Given the description of an element on the screen output the (x, y) to click on. 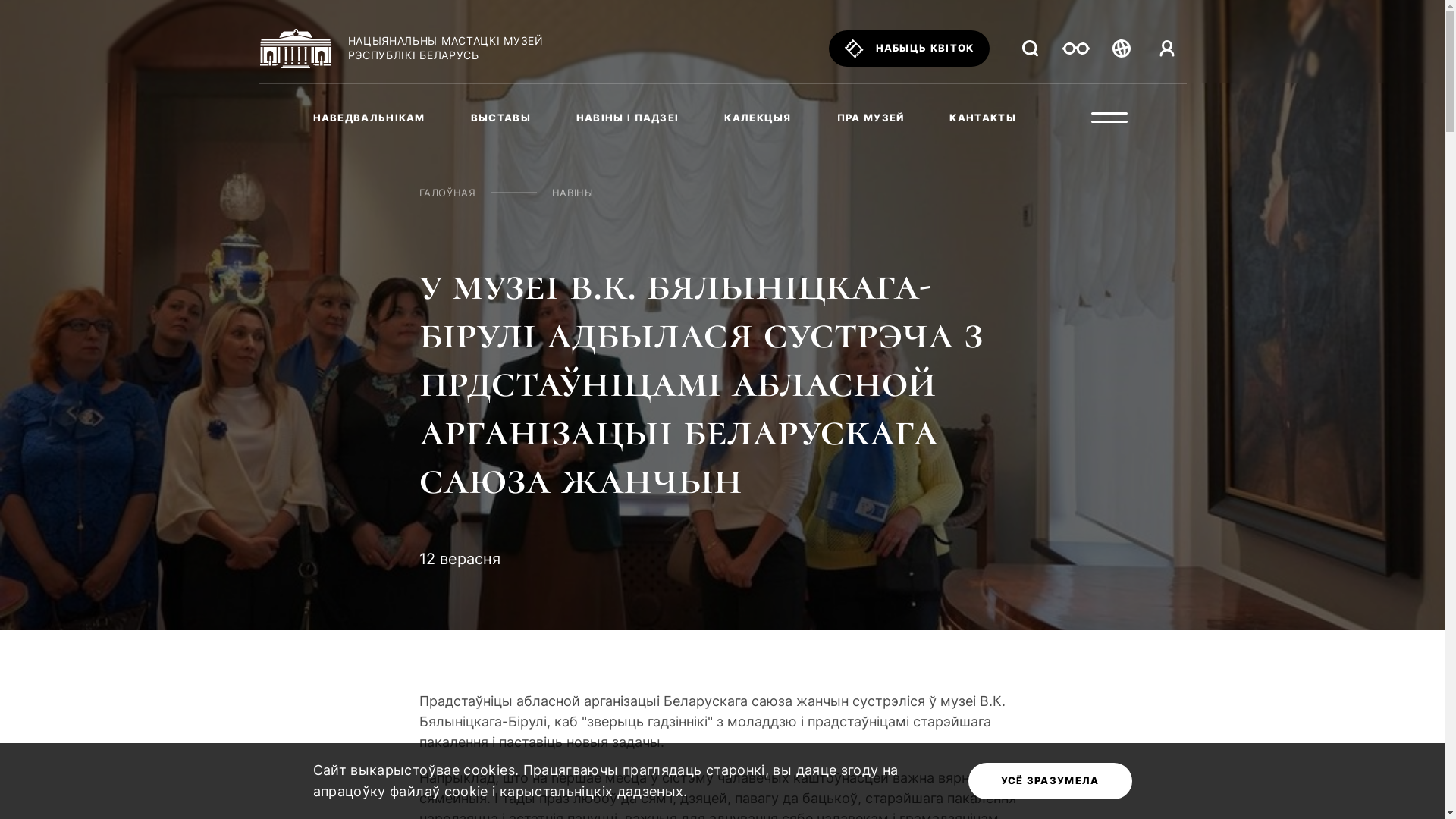
cookies Element type: text (488, 771)
